Given the description of an element on the screen output the (x, y) to click on. 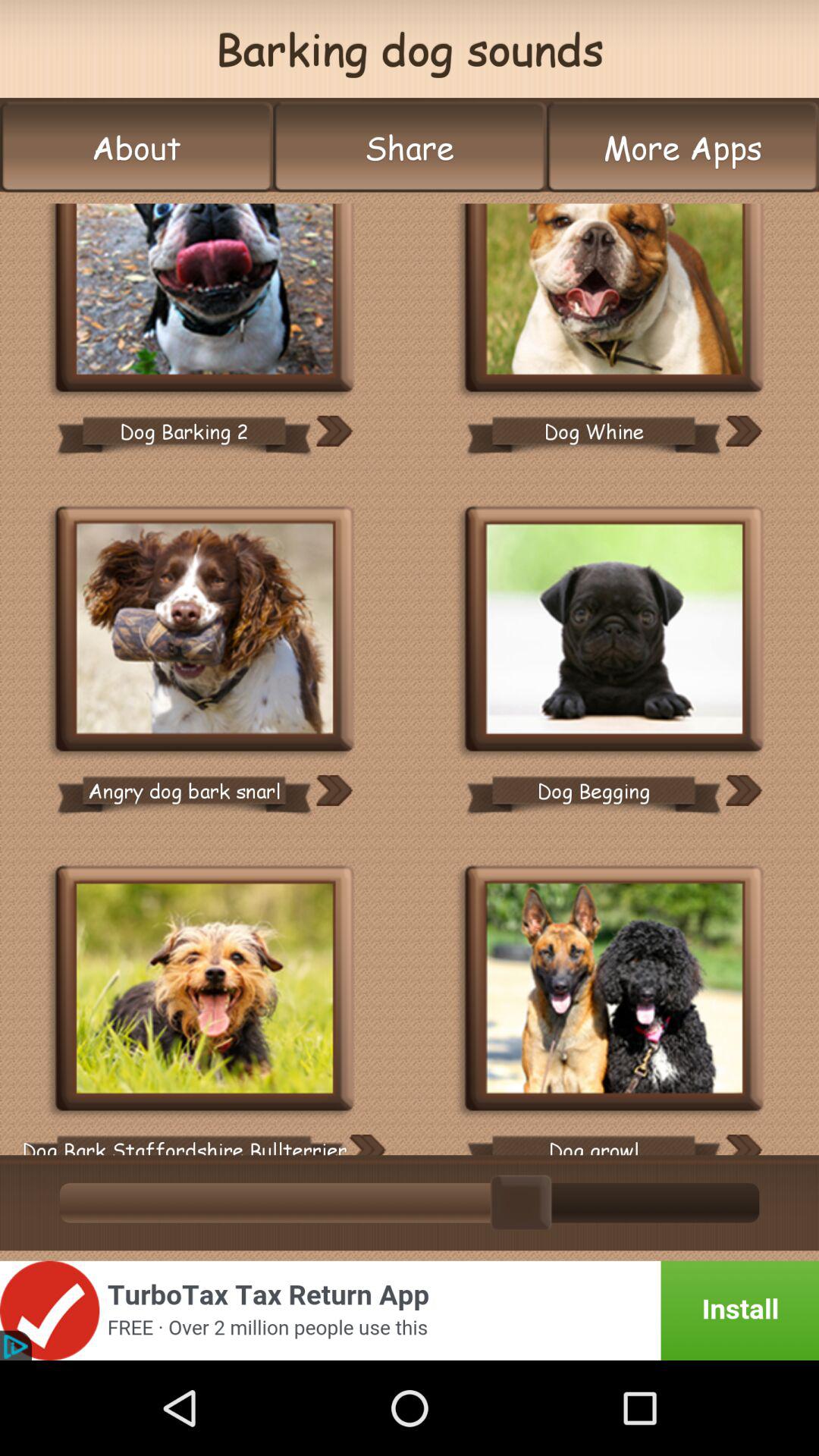
click the dog whine app (613, 298)
